Given the description of an element on the screen output the (x, y) to click on. 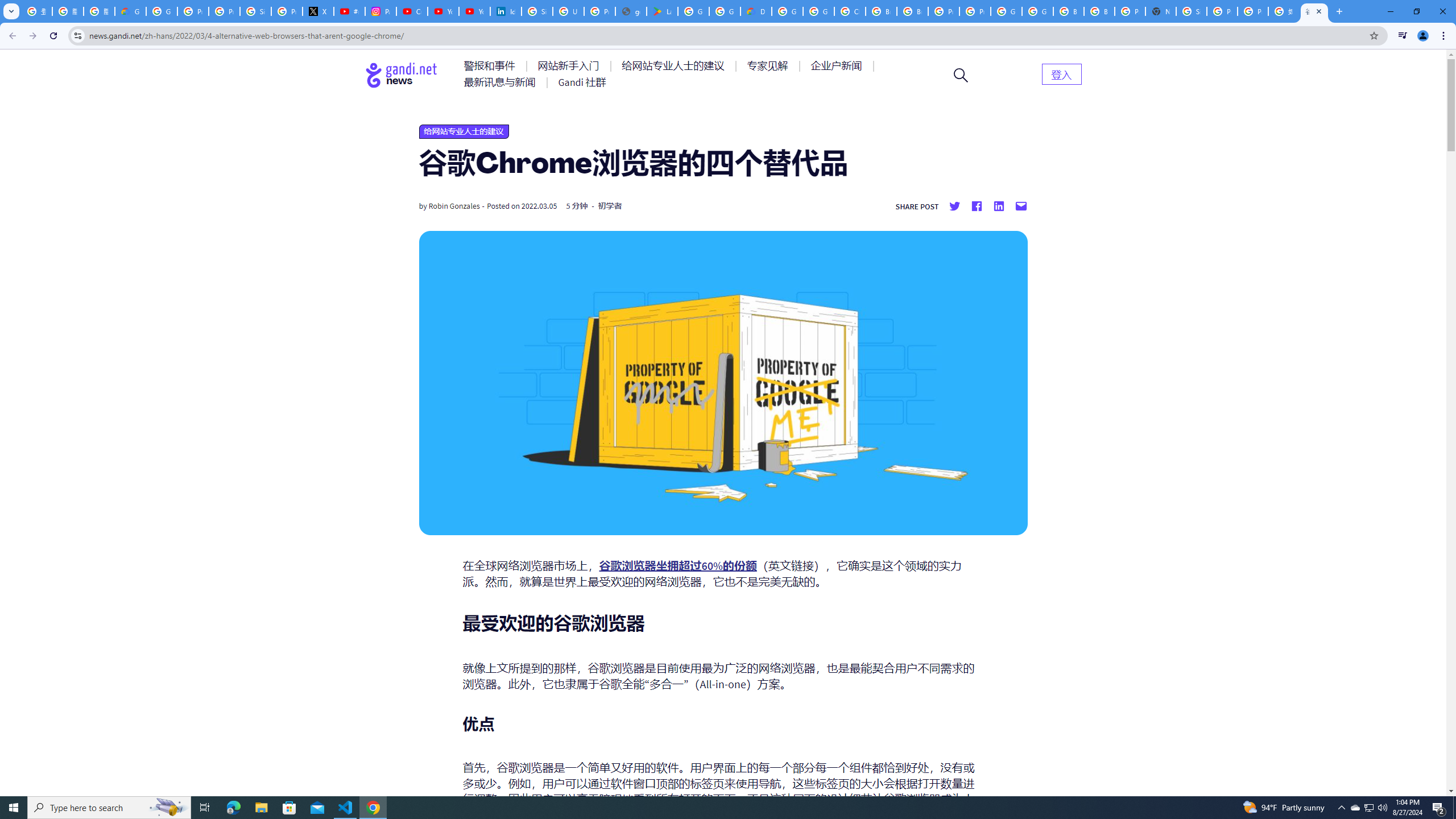
Share on twitter (953, 205)
AutomationID: menu-item-77766 (502, 82)
